Given the description of an element on the screen output the (x, y) to click on. 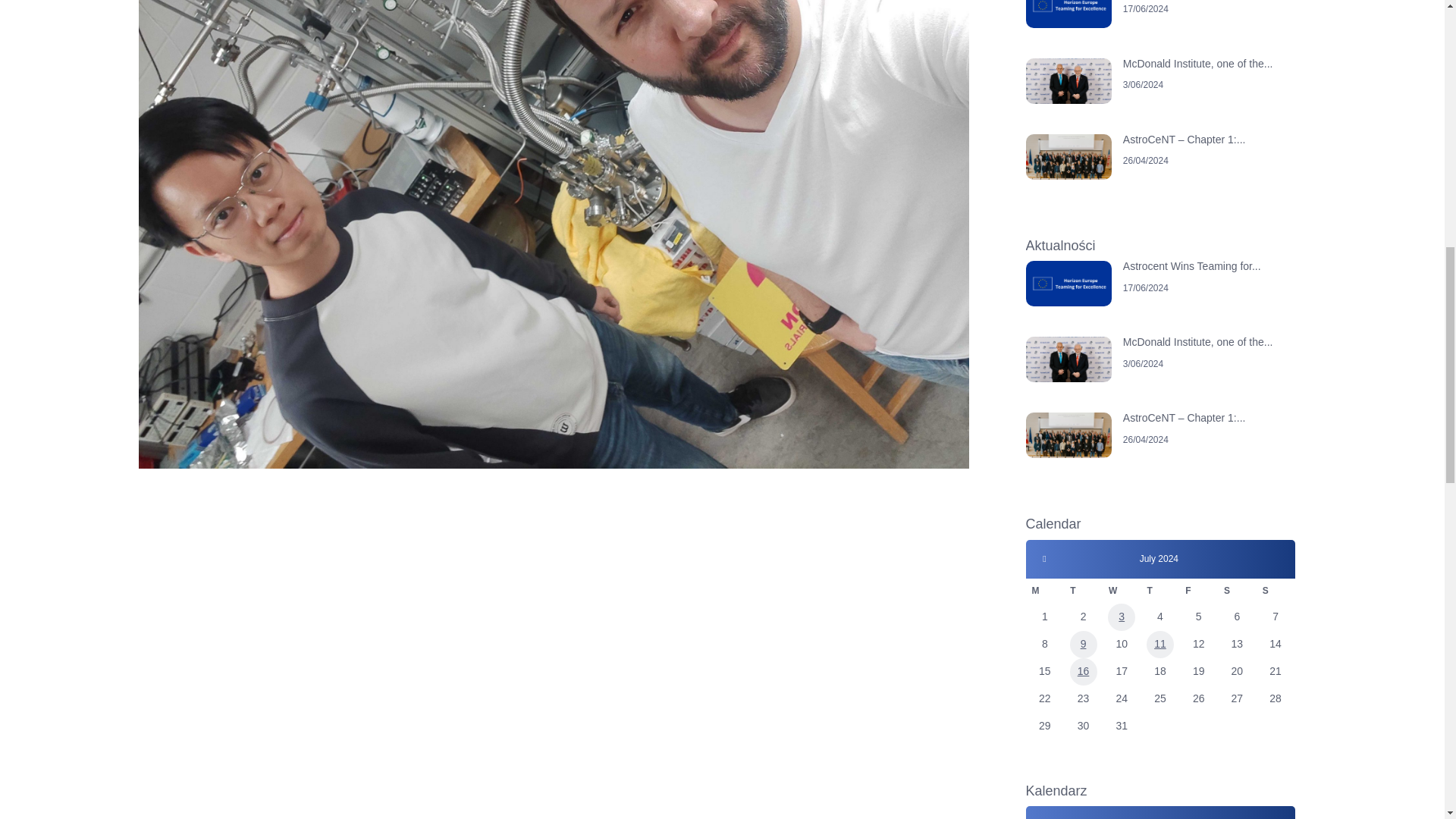
Tuesday (1083, 590)
link na astrocent (1160, 96)
link na astrocent (1160, 171)
link na astrocent (1160, 298)
link na astrocent (1160, 450)
link na astrocent (1160, 29)
link na astrocent (1160, 374)
Monday (1044, 590)
